Given the description of an element on the screen output the (x, y) to click on. 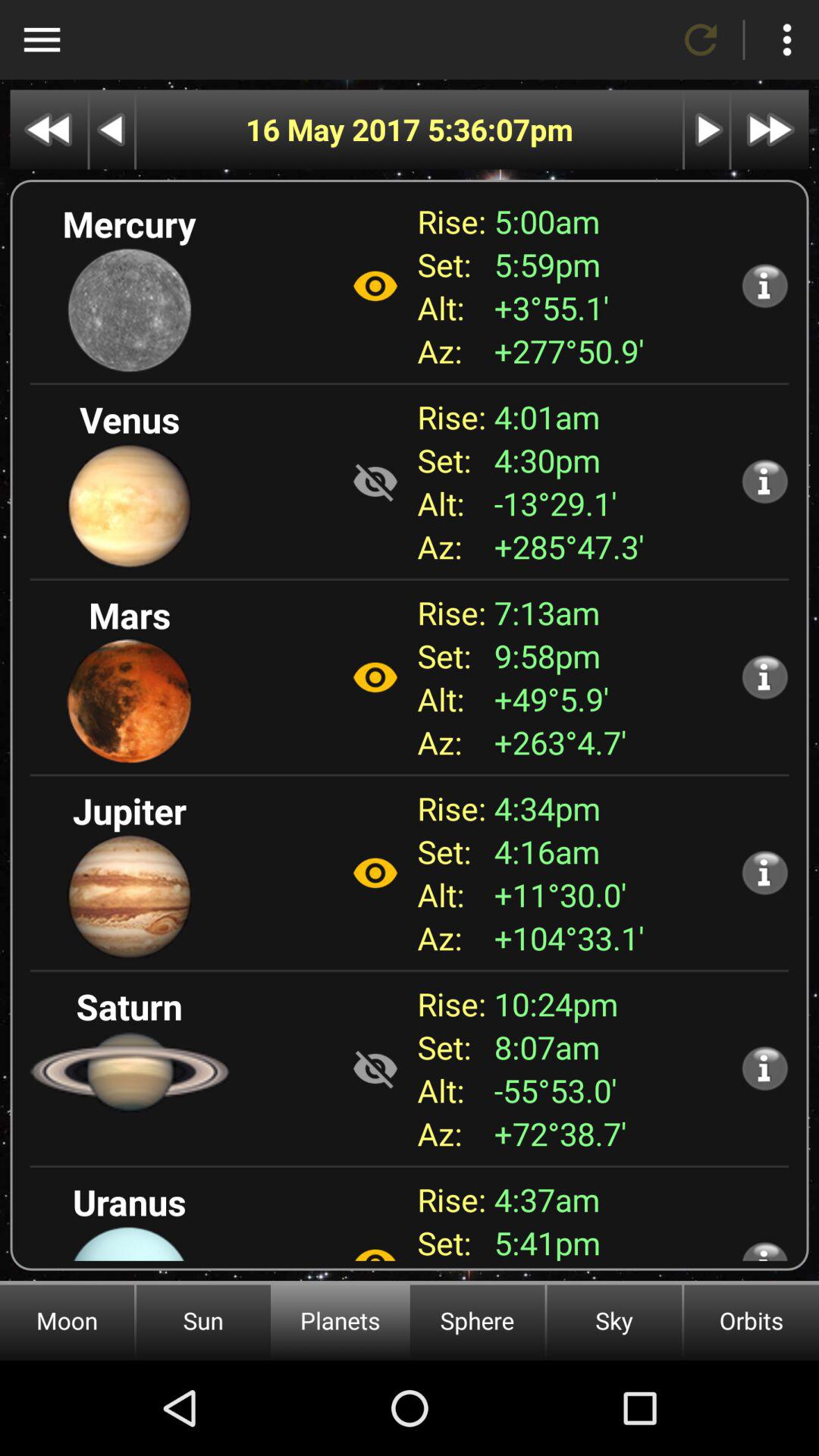
shows visible icon (375, 1068)
